Given the description of an element on the screen output the (x, y) to click on. 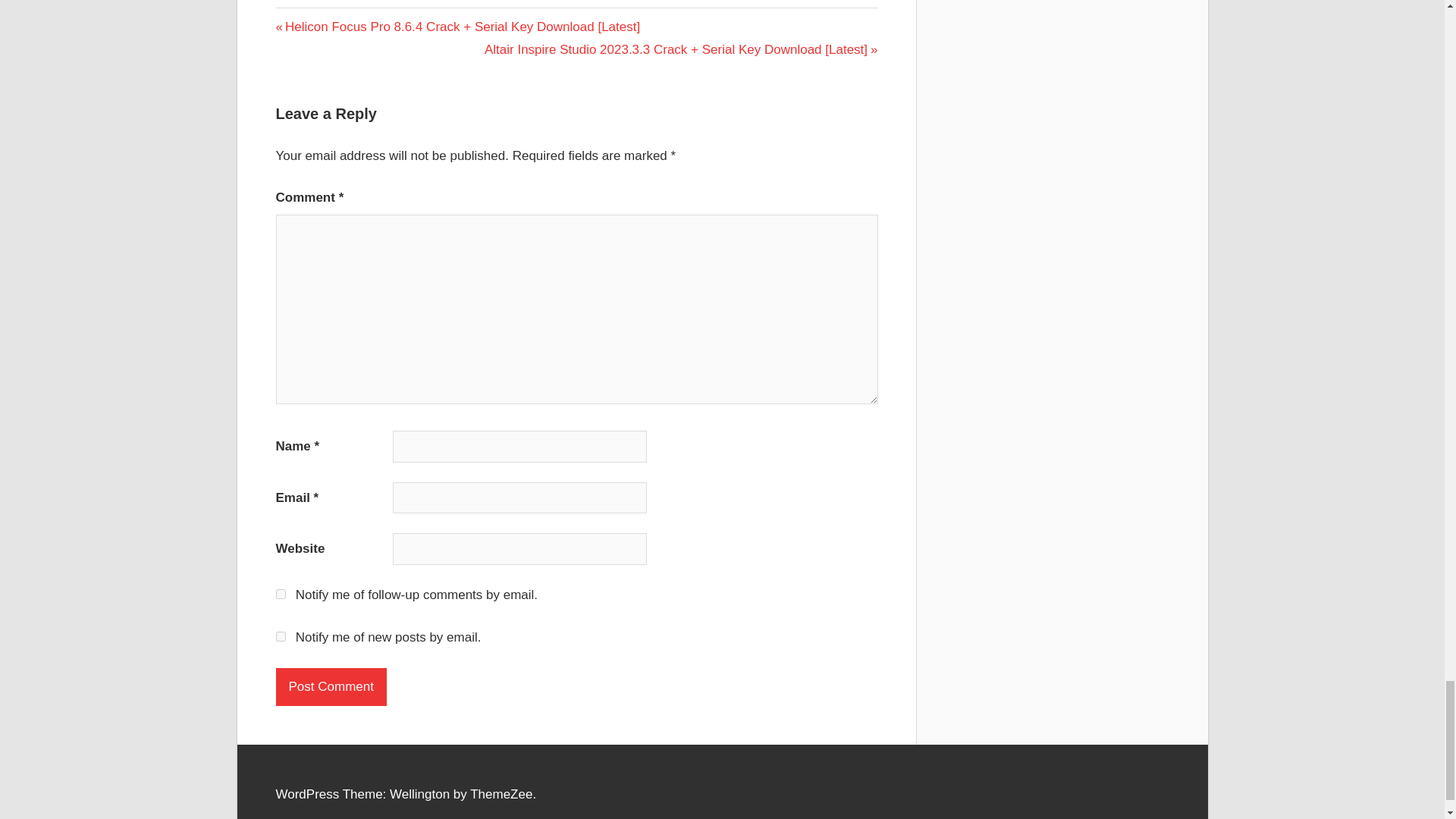
subscribe (280, 636)
Post Comment (331, 686)
subscribe (280, 593)
